Given the description of an element on the screen output the (x, y) to click on. 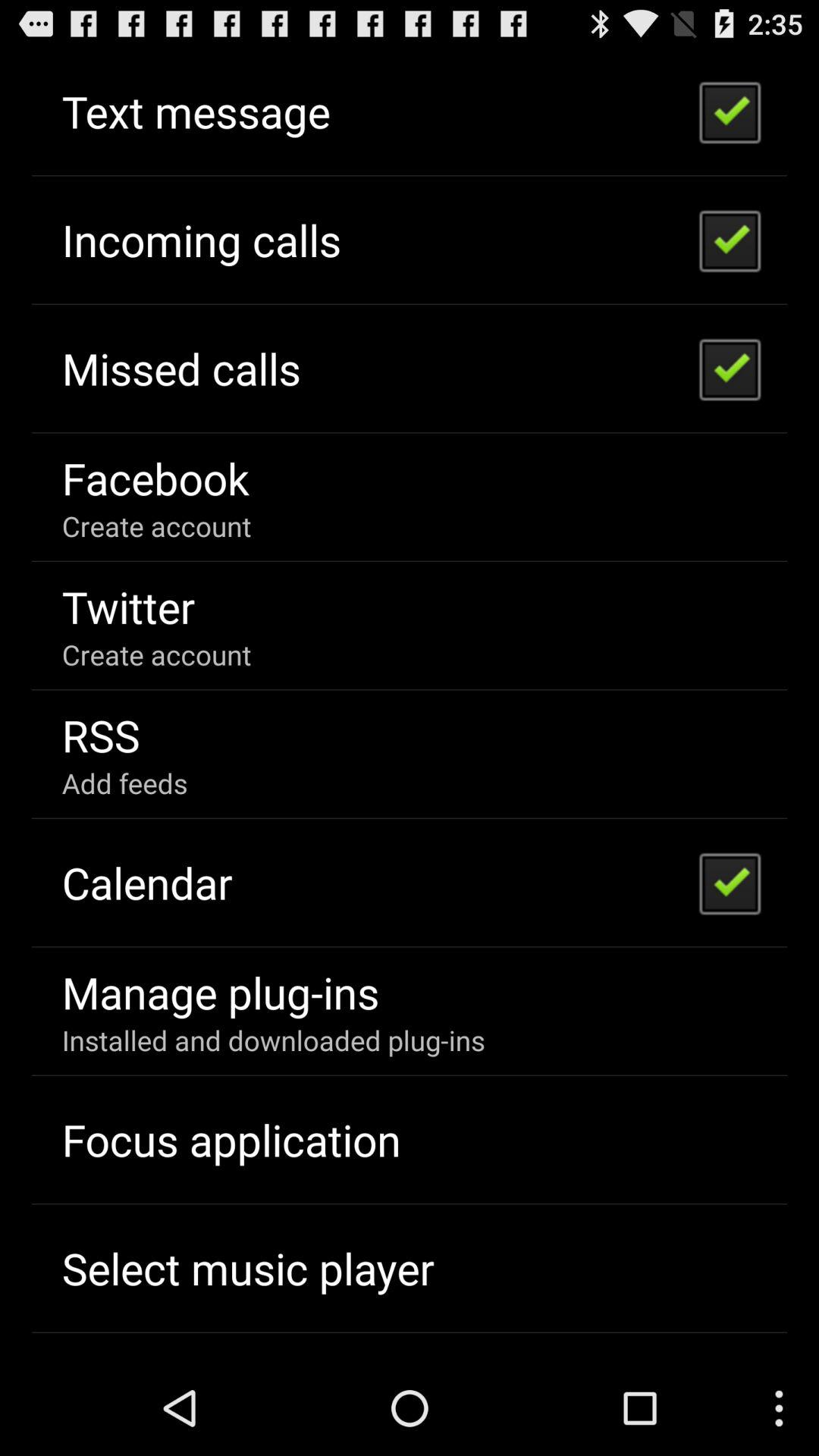
flip to add feeds app (124, 782)
